Given the description of an element on the screen output the (x, y) to click on. 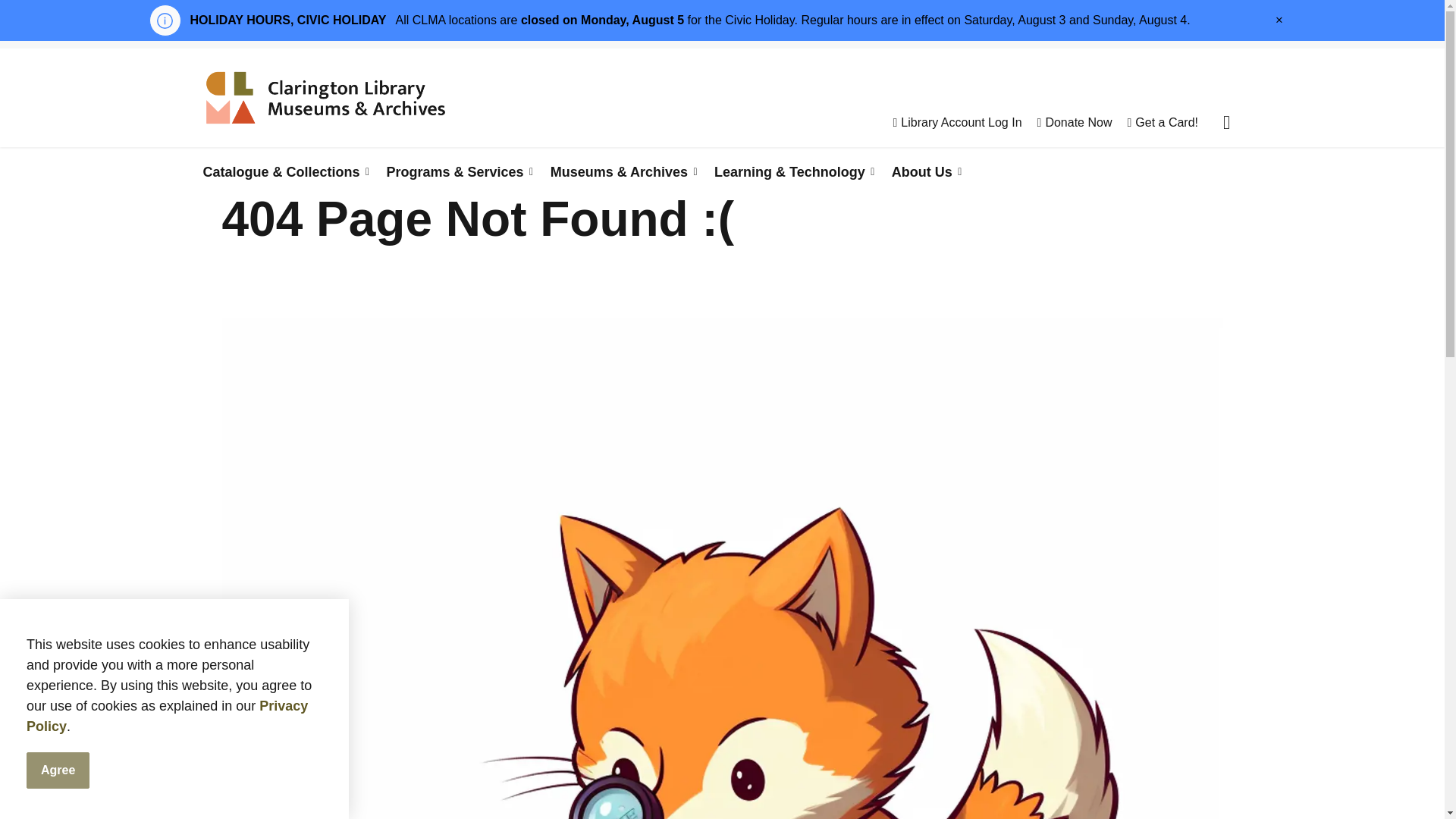
About Us (924, 171)
Close alert (1278, 20)
Privacy Policy (166, 715)
LiveChat chat widget (1359, 787)
